Given the description of an element on the screen output the (x, y) to click on. 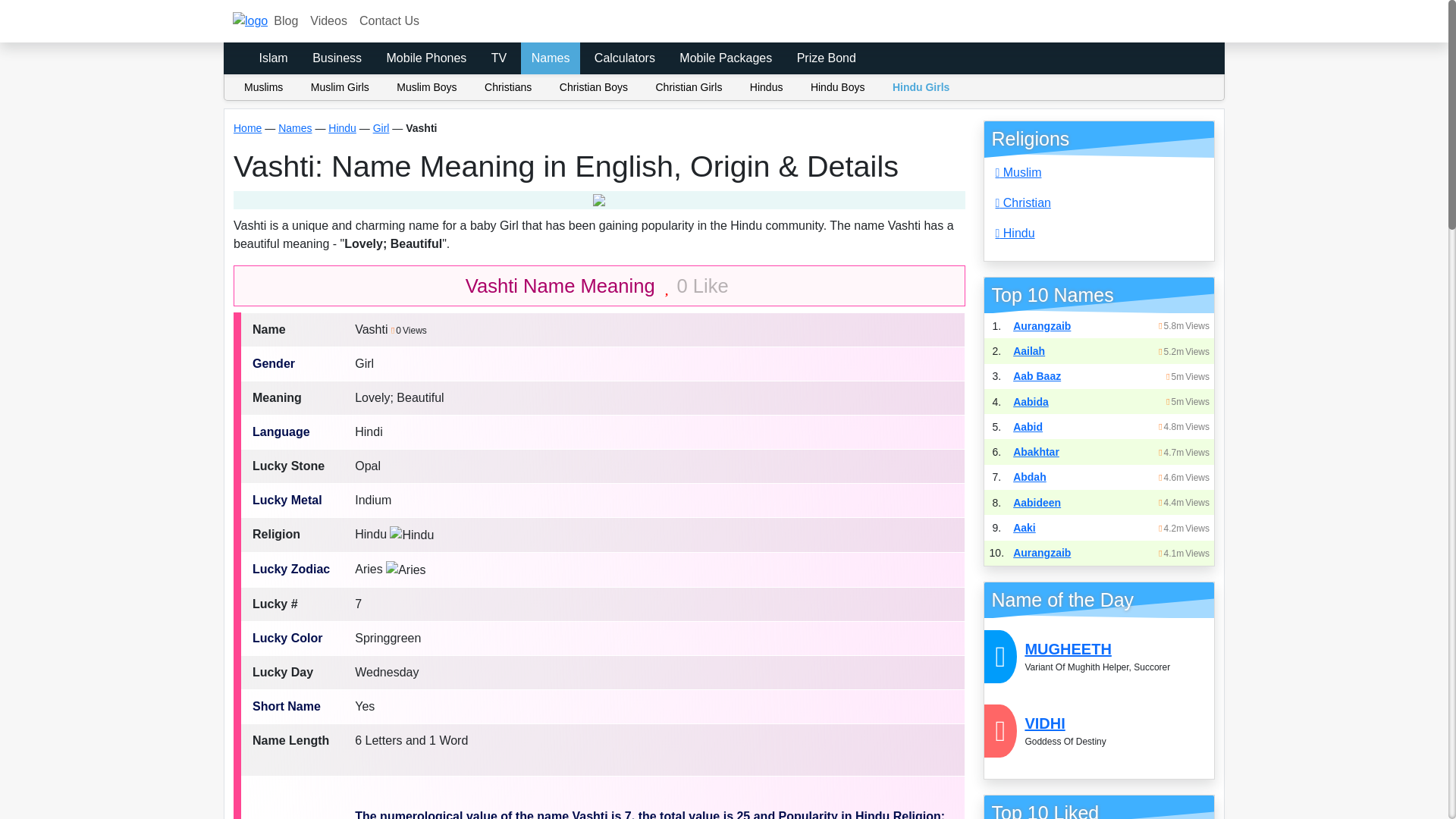
Islam (272, 58)
Hindu (342, 128)
Business (336, 58)
Christian Boys (595, 87)
Muslims (264, 87)
Girl (381, 128)
TV (498, 58)
Muslim Boys (427, 87)
Blog (285, 20)
Mobile Phones (426, 58)
Contact Us (389, 20)
Christians (509, 87)
0 Like (697, 285)
Hindu Boys (839, 87)
Prize Bond (826, 58)
